Given the description of an element on the screen output the (x, y) to click on. 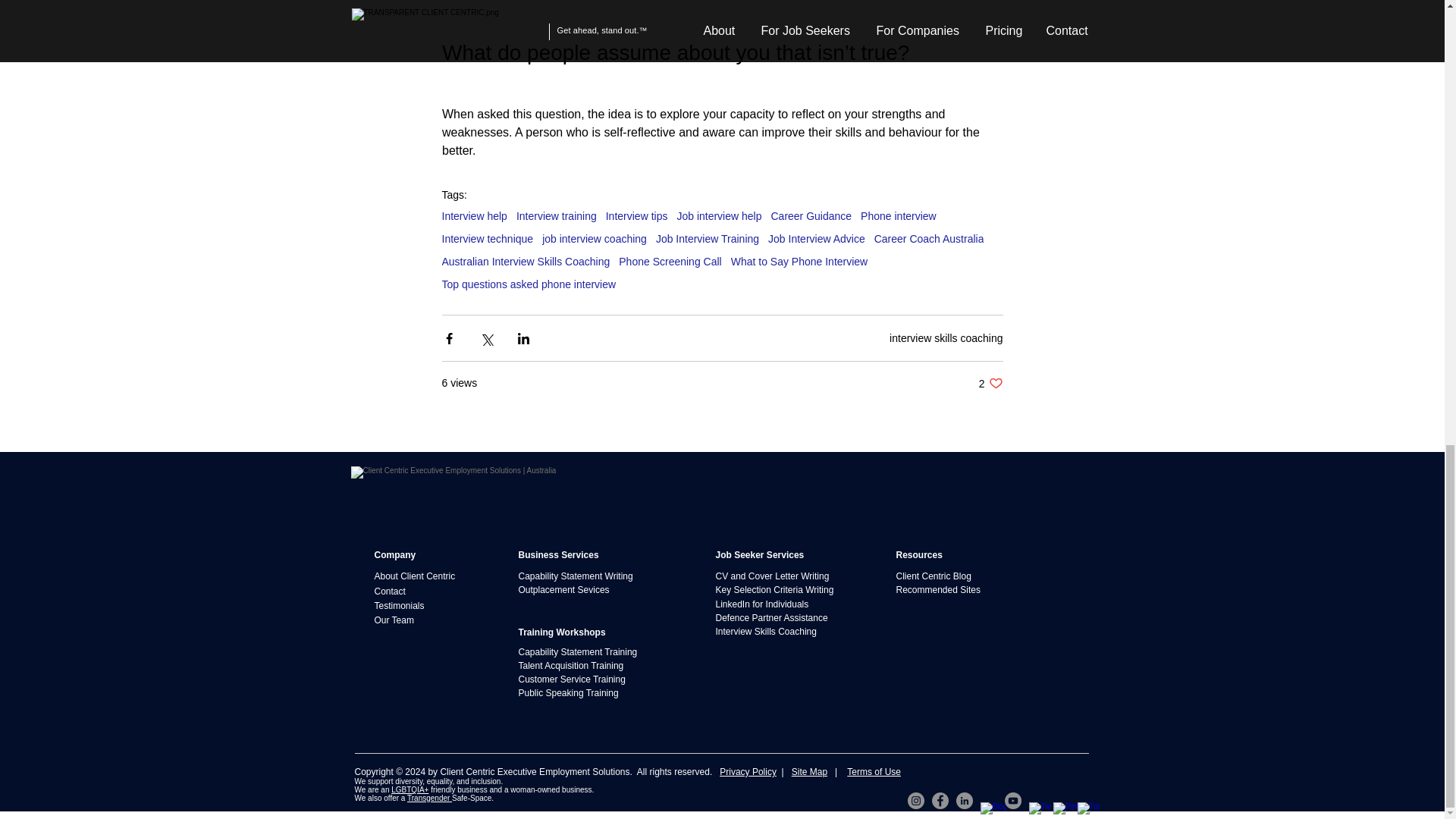
Career Coach Australia (929, 238)
Australian Interview Skills Coaching (525, 261)
About Client Centric (433, 576)
Interview help (473, 215)
Phone interview (898, 215)
Testimonials (990, 382)
interview skills coaching (410, 605)
Contact (946, 337)
Interview tips (410, 591)
